Given the description of an element on the screen output the (x, y) to click on. 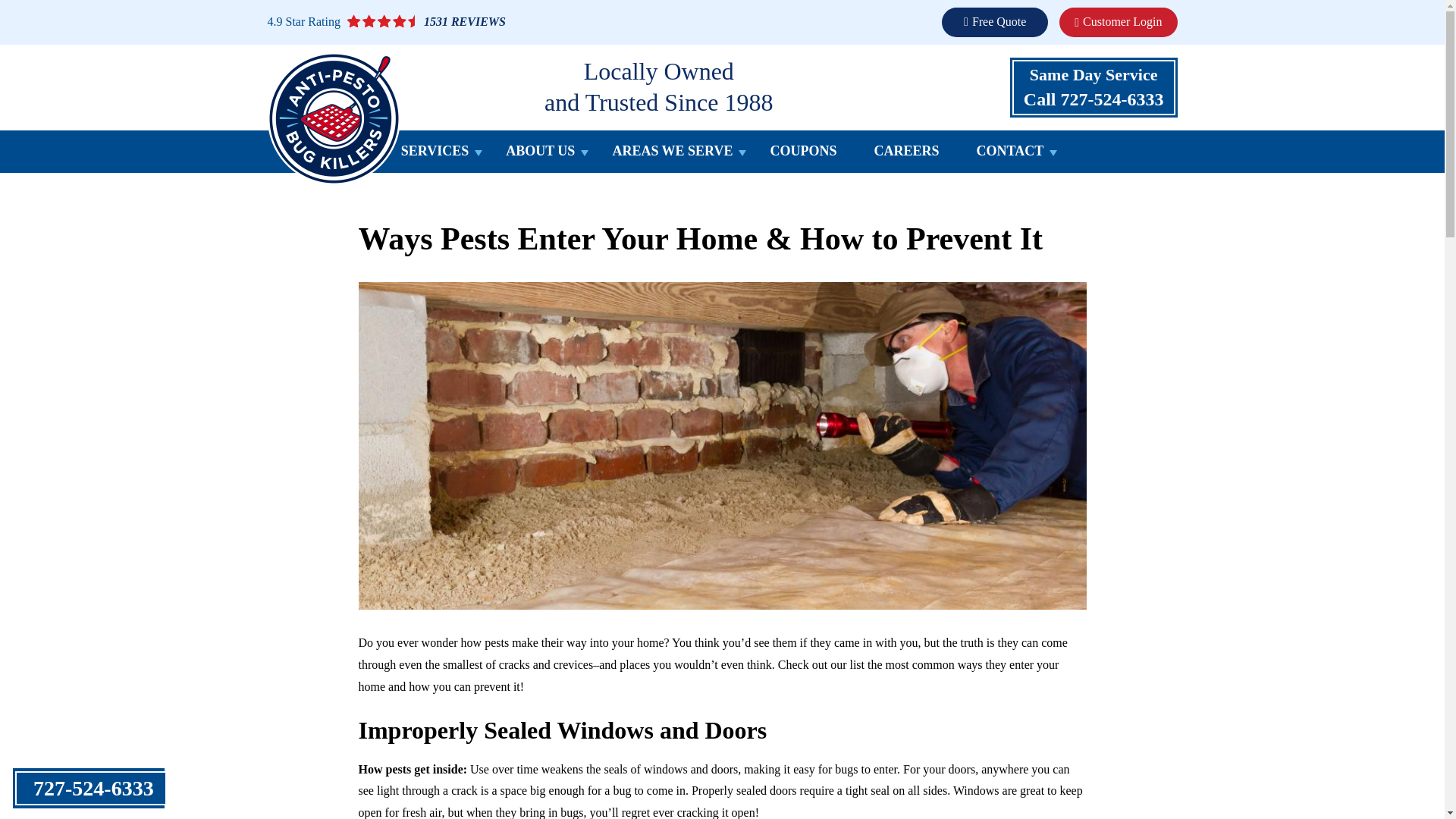
CONTACT (1009, 154)
Customer Login (1117, 21)
SERVICES (434, 154)
AREAS WE SERVE (671, 154)
Free Quote (995, 21)
COUPONS (802, 154)
ABOUT US (540, 154)
CAREERS (1093, 87)
